Given the description of an element on the screen output the (x, y) to click on. 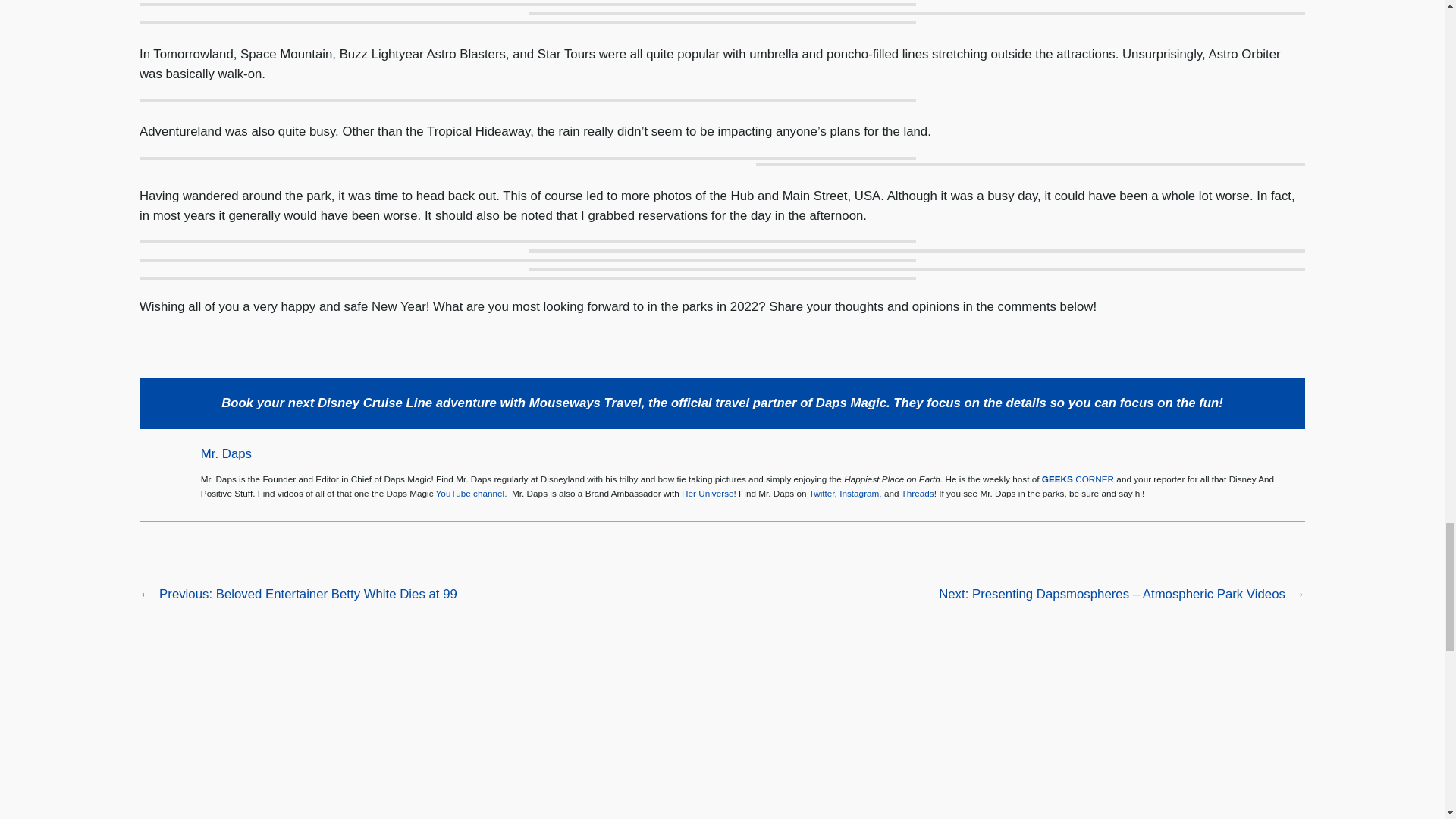
YouTube channel. (470, 492)
Rain Returns to the Disneyland Resort (337, 749)
Instagram, (861, 492)
GEEKS CORNER (1077, 479)
Mr. Daps (225, 453)
Twitter, (823, 492)
Previous: Beloved Entertainer Betty White Dies at 99 (307, 594)
Her Universe (707, 492)
